Given the description of an element on the screen output the (x, y) to click on. 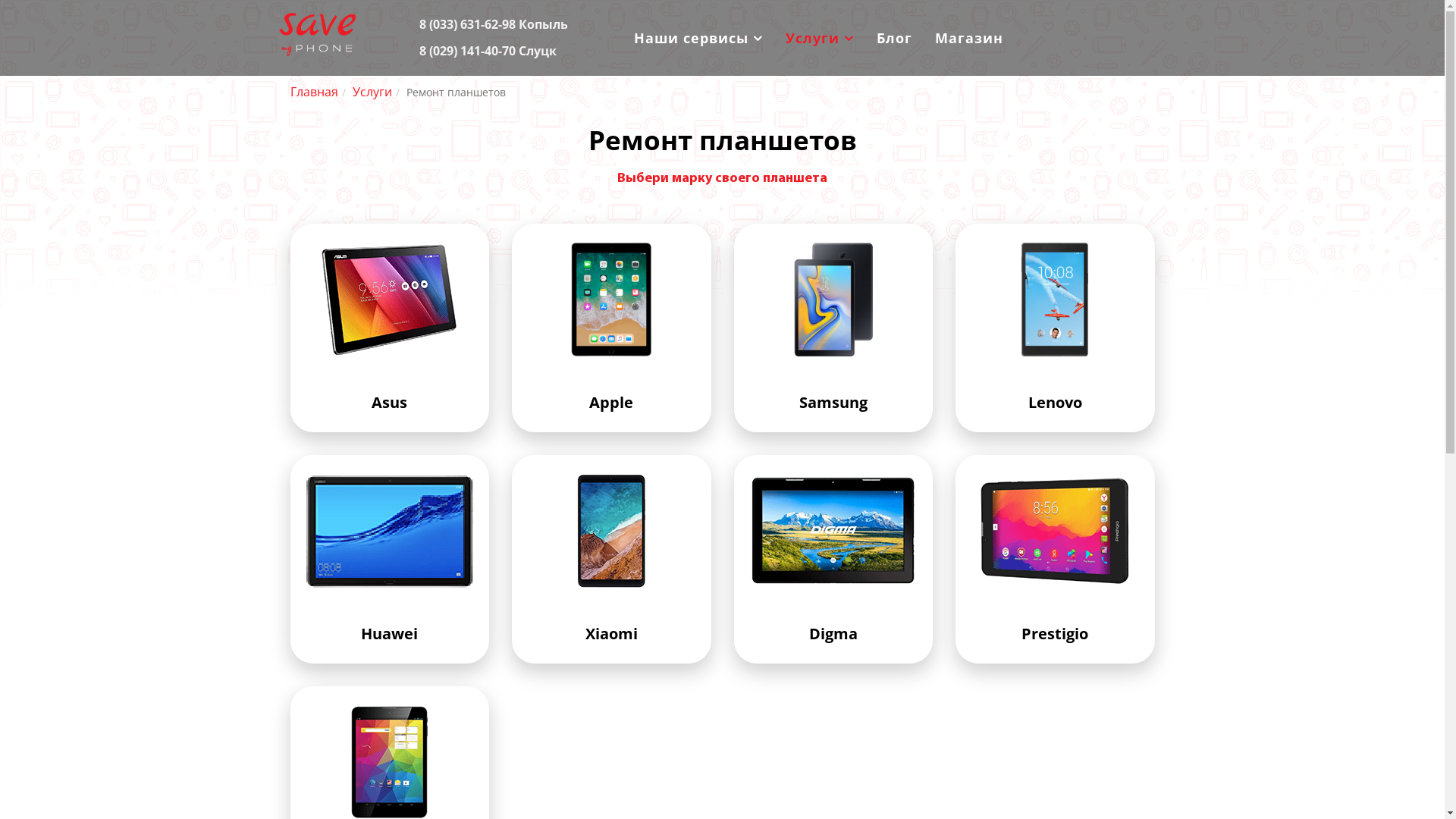
Digma Element type: text (833, 562)
Digma Element type: hover (832, 530)
Asus Element type: text (389, 331)
Huawei Element type: hover (389, 530)
Prestigio Element type: text (1054, 562)
Lenovo Element type: text (1054, 331)
Prestigio Element type: hover (1054, 530)
Xiaomi Element type: hover (611, 530)
Apple Element type: hover (611, 299)
Huawei Element type: text (389, 562)
Samsung Element type: text (833, 331)
Xiaomi Element type: text (611, 562)
Lenovo Element type: hover (1054, 299)
Samsung Element type: hover (832, 299)
Apple Element type: text (611, 331)
Asus Element type: hover (389, 299)
